Given the description of an element on the screen output the (x, y) to click on. 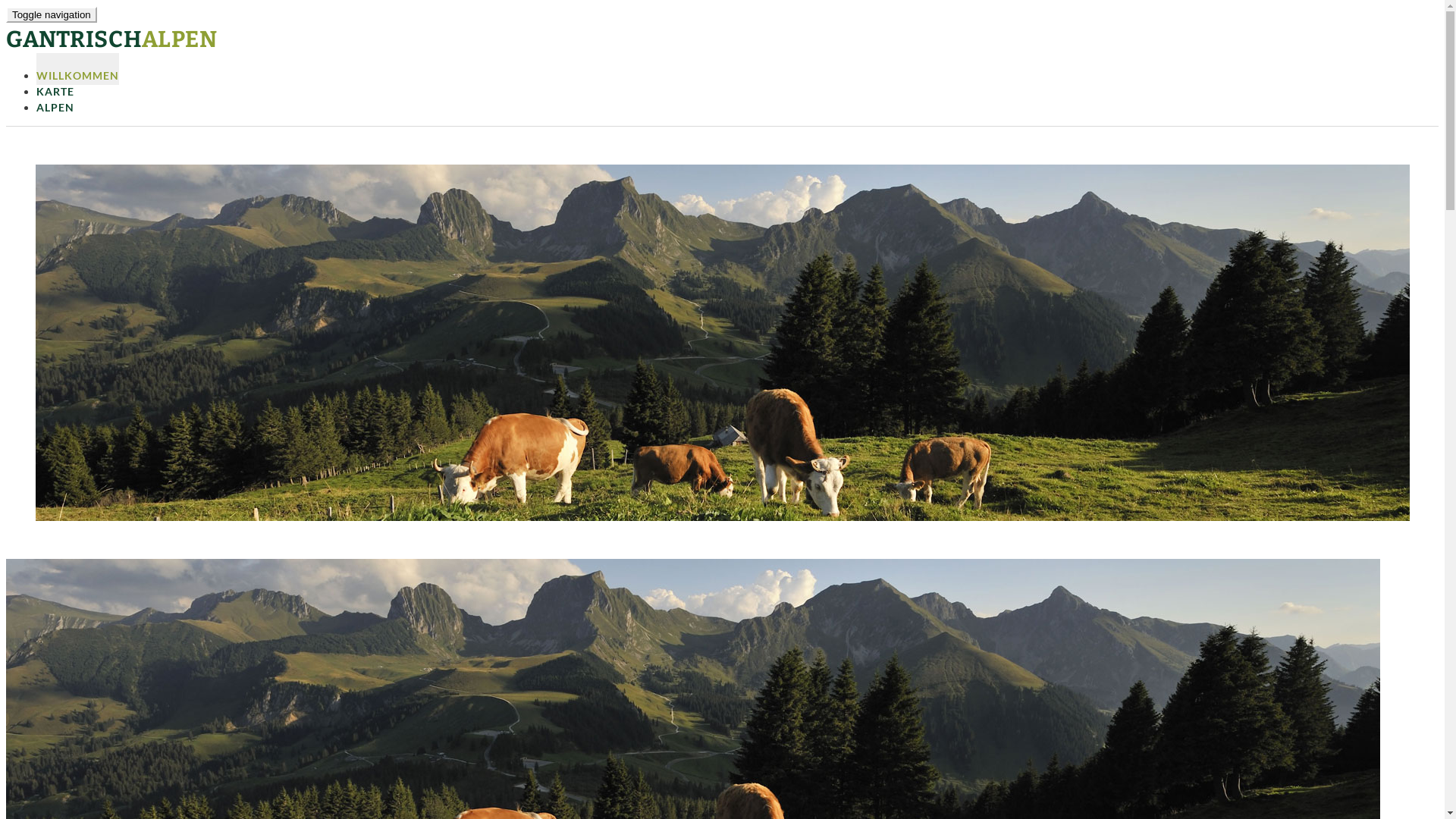
GANTRISCHALPEN Element type: text (111, 39)
Toggle navigation Element type: text (51, 14)
ALPEN Element type: text (55, 100)
KARTE Element type: text (55, 84)
WILLKOMMEN Element type: text (77, 68)
